Given the description of an element on the screen output the (x, y) to click on. 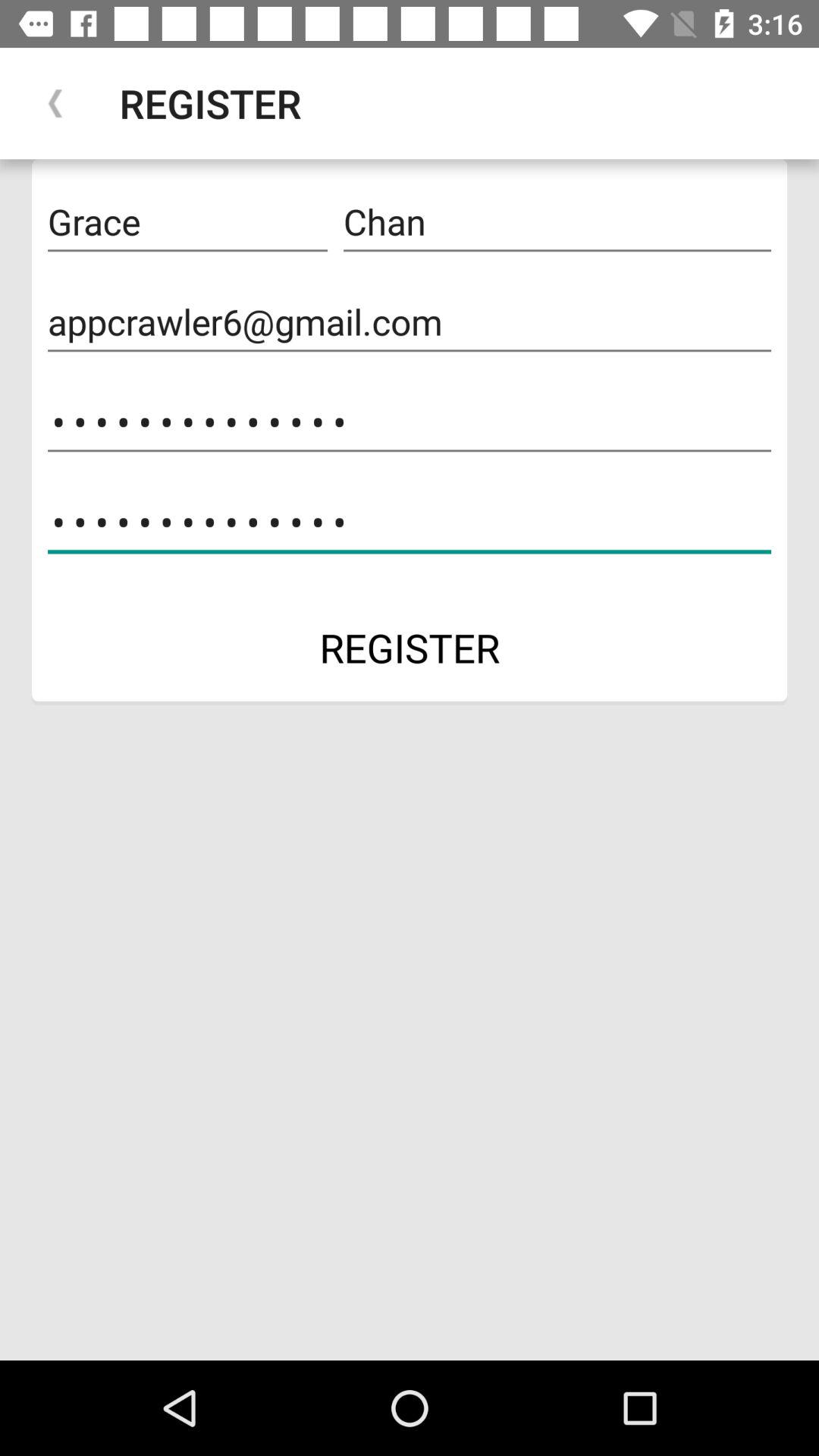
tap icon next to chan item (187, 222)
